Given the description of an element on the screen output the (x, y) to click on. 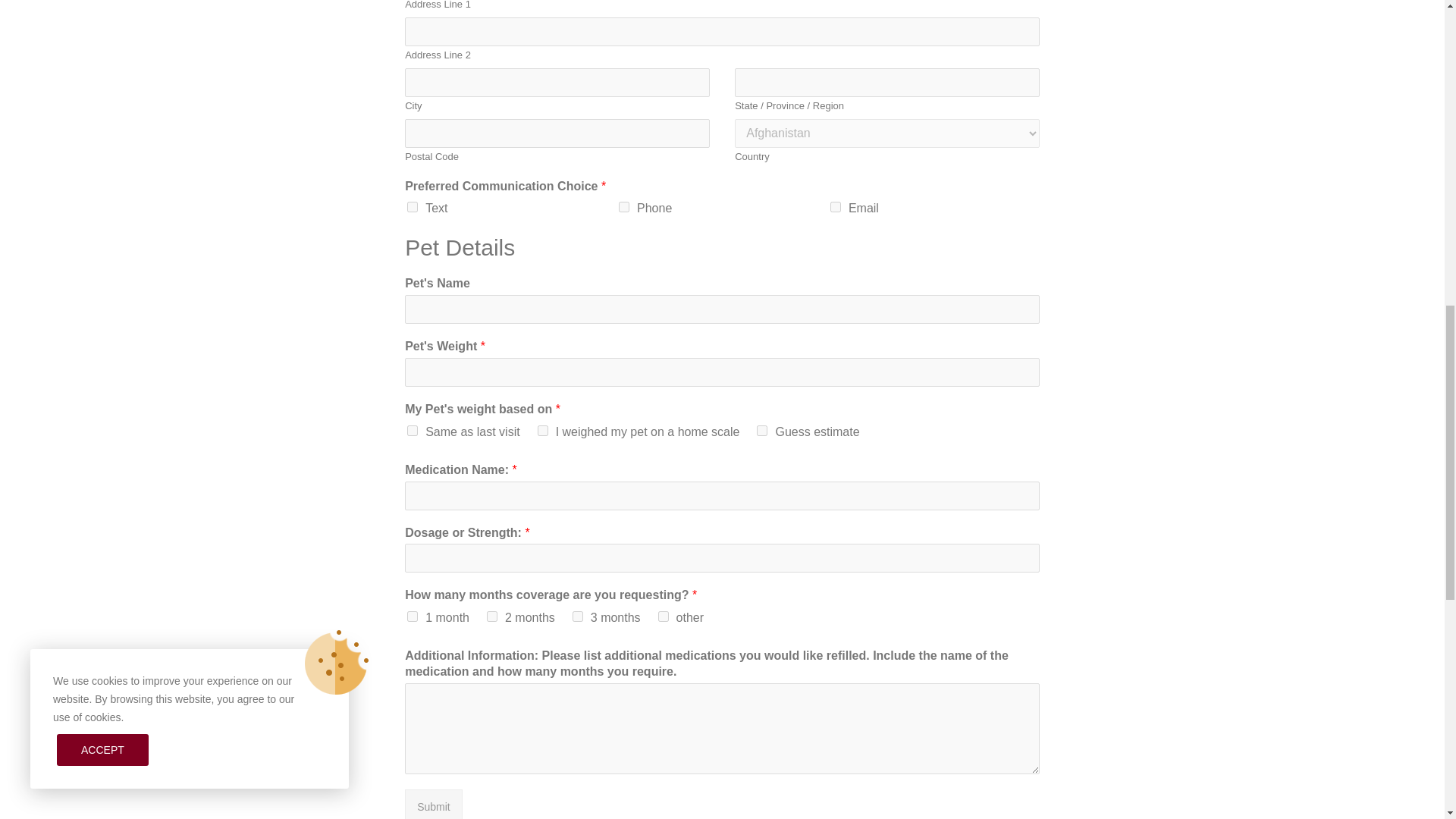
Text (412, 206)
Phone (623, 206)
Email (835, 206)
Guess estimate (762, 430)
I weighed my pet on a home scale (542, 430)
Same as last visit (412, 430)
1 month (412, 615)
